Given the description of an element on the screen output the (x, y) to click on. 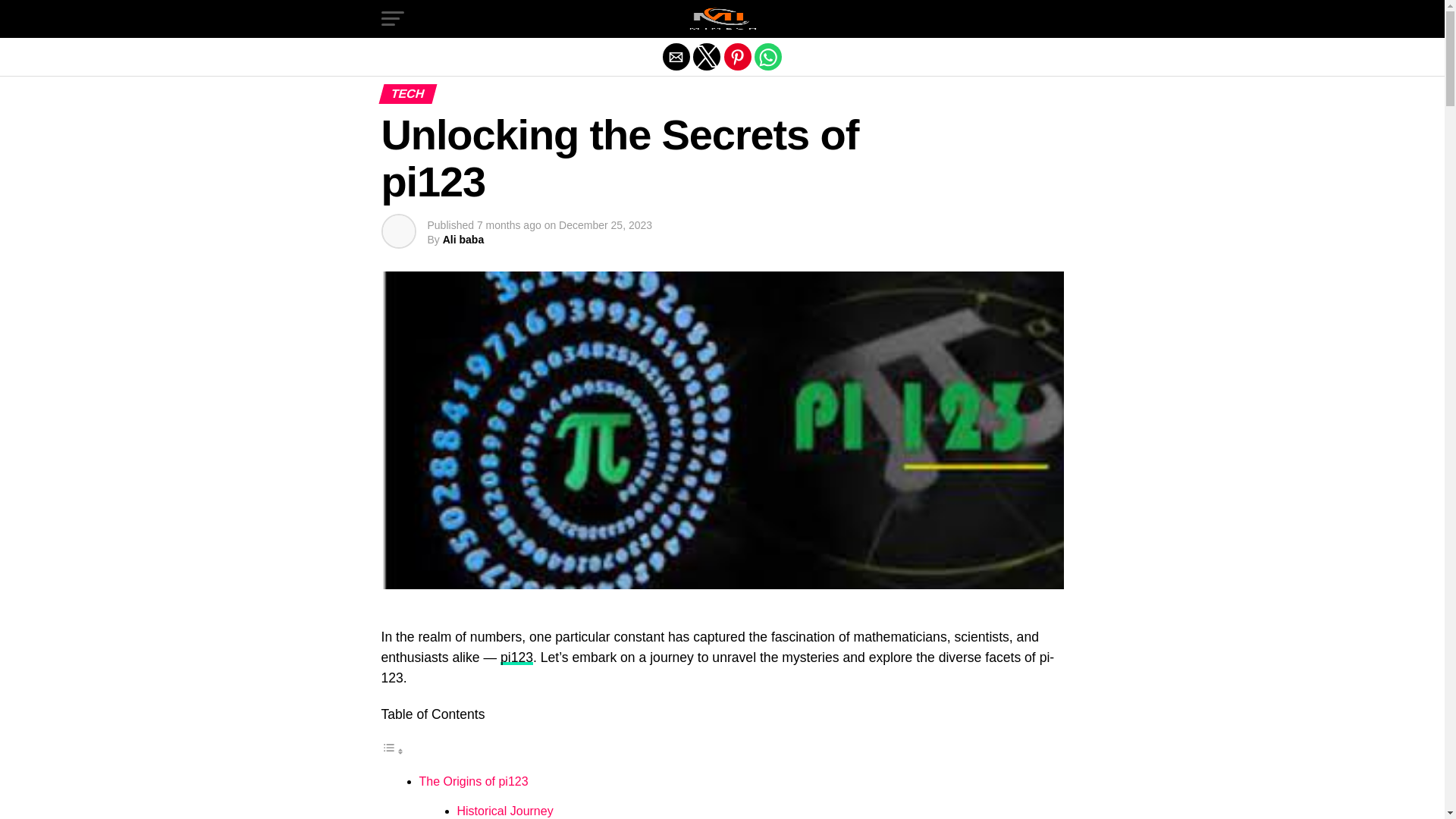
Historical Journey (505, 810)
Posts by Ali baba (462, 239)
Historical Journey (505, 810)
The Origins of pi123 (473, 780)
Ali baba (462, 239)
The Origins of pi123 (473, 780)
pi123 (516, 657)
